Given the description of an element on the screen output the (x, y) to click on. 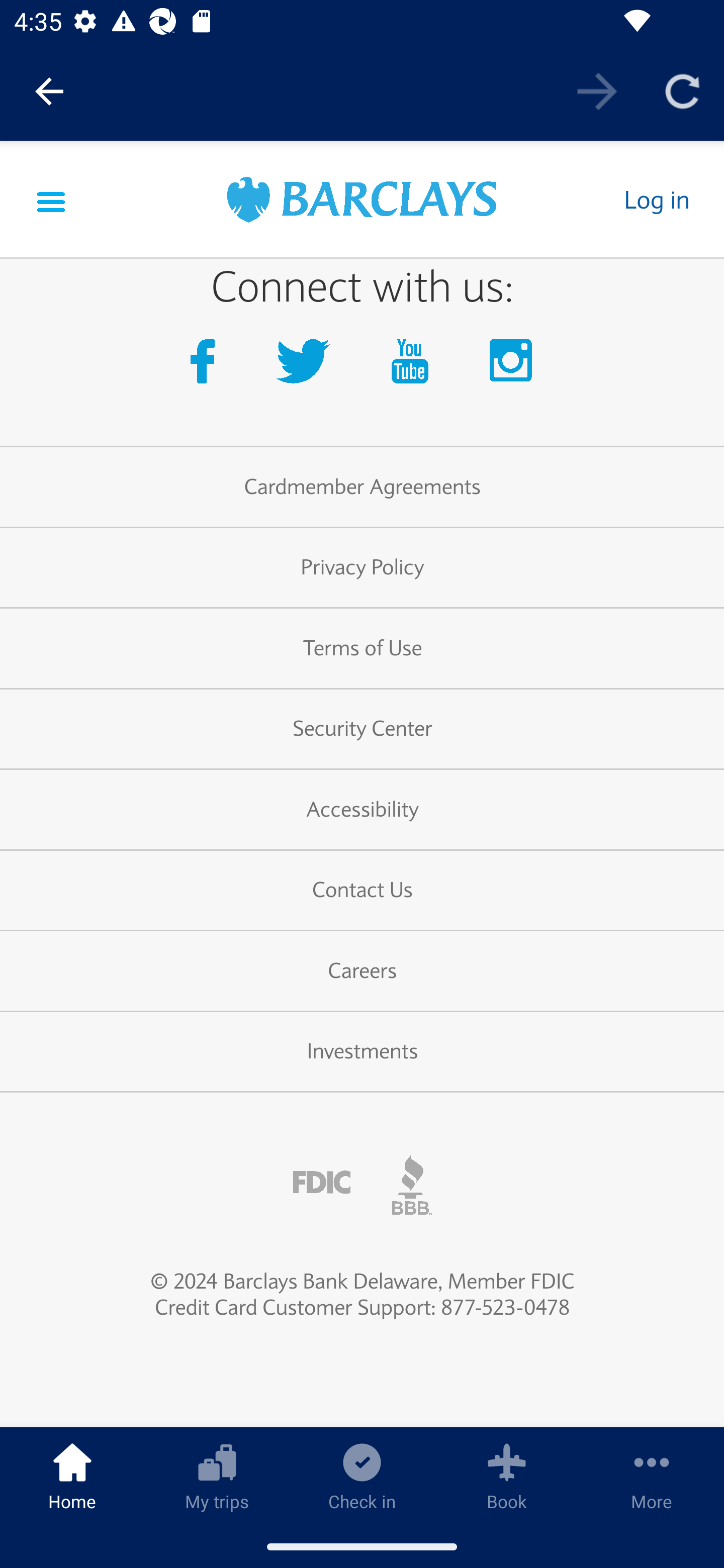
Navigate up (49, 91)
Forward (597, 90)
Reload (681, 90)
Menu (51, 199)
Log in (655, 199)
Barclays (362, 202)
Connect with Barclays US on Facebook (205, 366)
Follow Barclays US on Twitter (306, 366)
Watch Barclays US videos on YouTube (414, 366)
Follow Barclays US on Instagram (512, 366)
Cardmember Agreements (362, 488)
Privacy Policy (362, 568)
Terms of Use (362, 648)
Security Center (362, 729)
Accessibility (362, 810)
Contact Us (362, 891)
Careers (362, 972)
Investments (362, 1053)
Insured by the FDIC (321, 1183)
View the Better Business Bureau accreditation (411, 1185)
My trips (216, 1475)
Check in (361, 1475)
Book (506, 1475)
More (651, 1475)
